Given the description of an element on the screen output the (x, y) to click on. 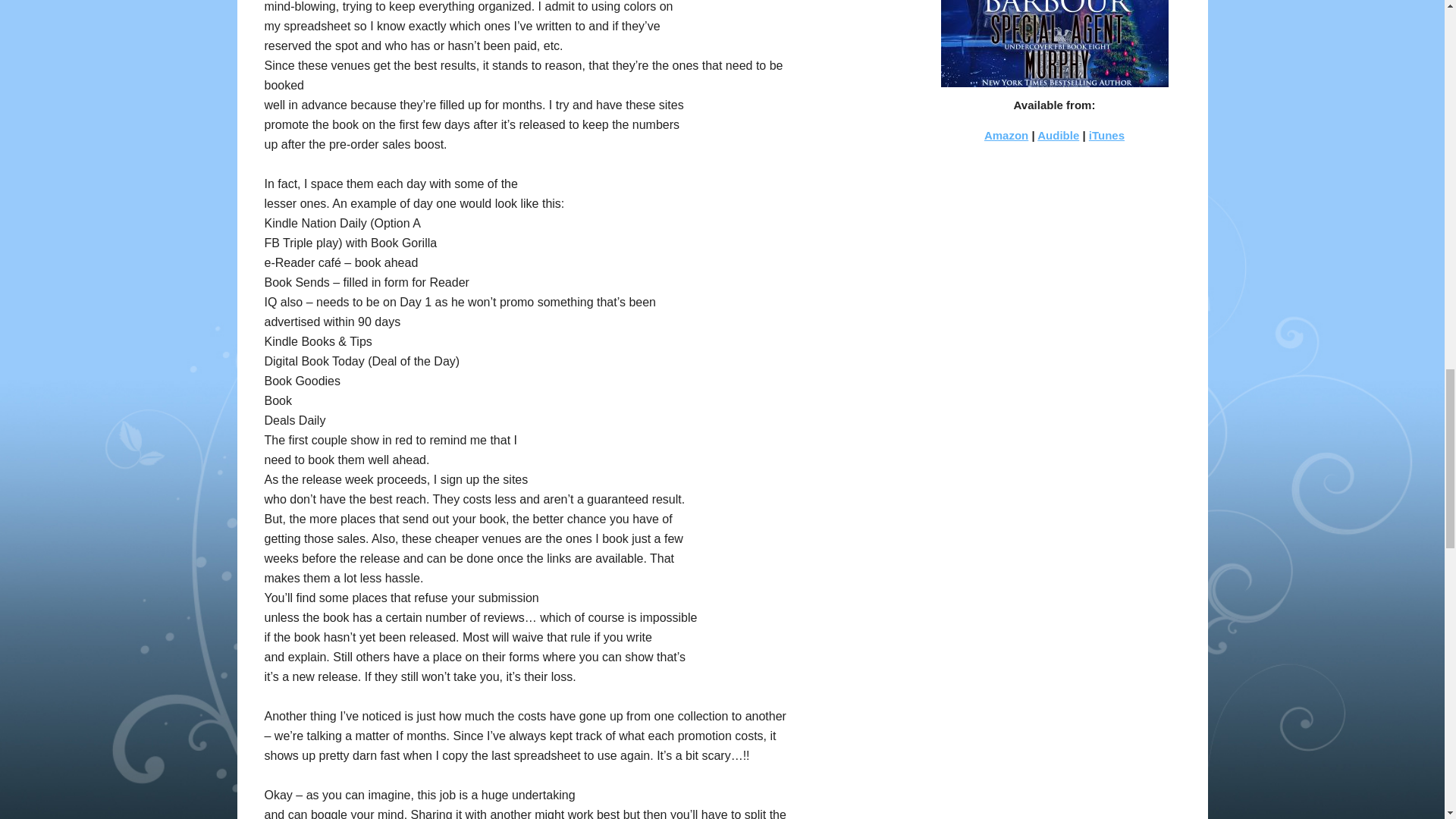
Amazon (1053, 43)
